Given the description of an element on the screen output the (x, y) to click on. 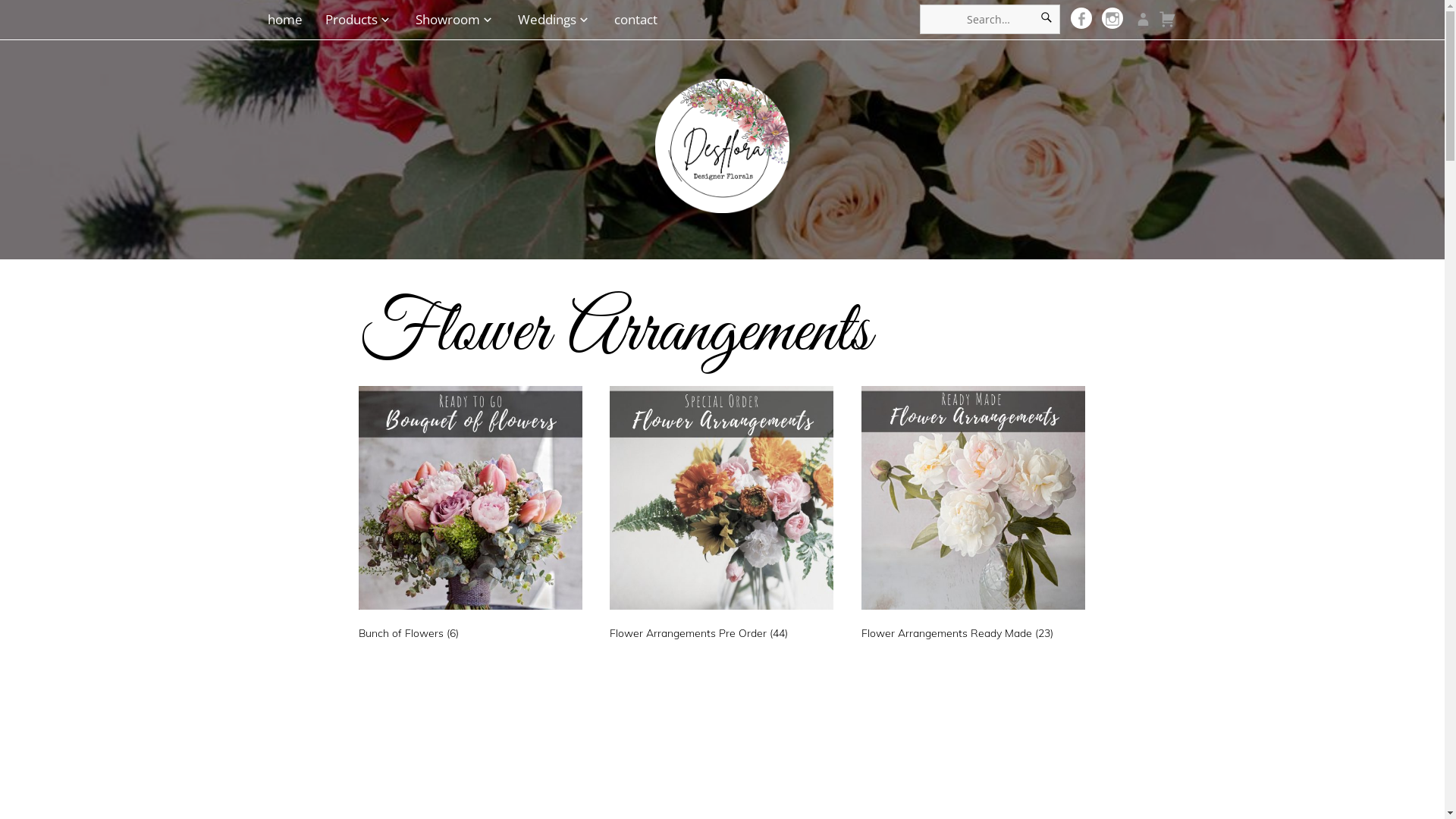
Search Element type: hover (1046, 19)
contact Element type: text (631, 18)
Weddings Element type: text (553, 18)
Showroom Element type: text (455, 18)
Return to homepage Element type: hover (722, 134)
Products Element type: text (358, 18)
home Element type: text (286, 18)
Flower Arrangements Ready Made (23) Element type: text (973, 515)
Flower Arrangements Pre Order (44) Element type: text (721, 515)
Bunch of Flowers (6) Element type: text (469, 515)
